Given the description of an element on the screen output the (x, y) to click on. 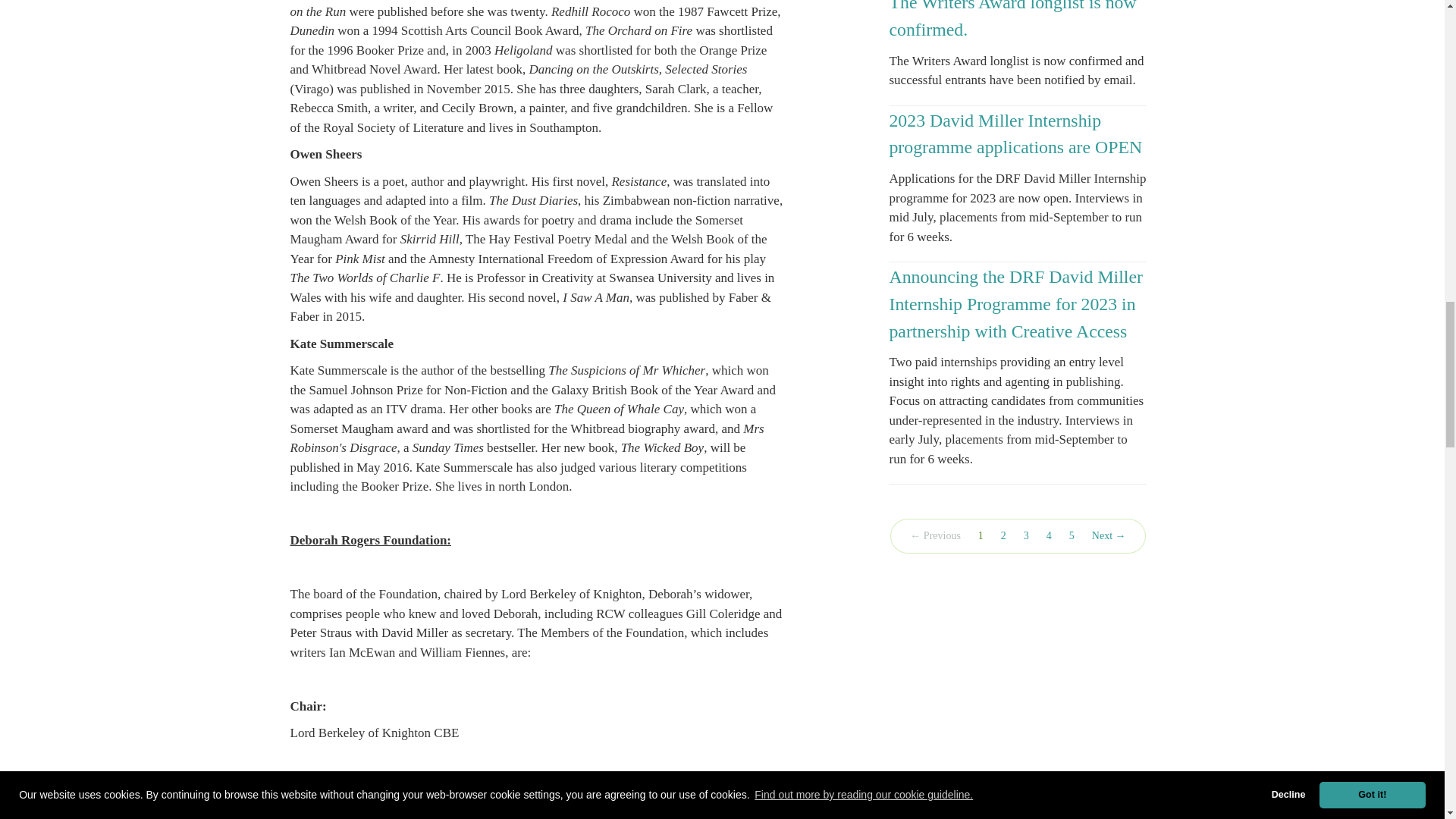
The Writers Award longlist is now confirmed. (1011, 19)
2023 David Miller Internship programme applications are OPEN (1014, 134)
